Given the description of an element on the screen output the (x, y) to click on. 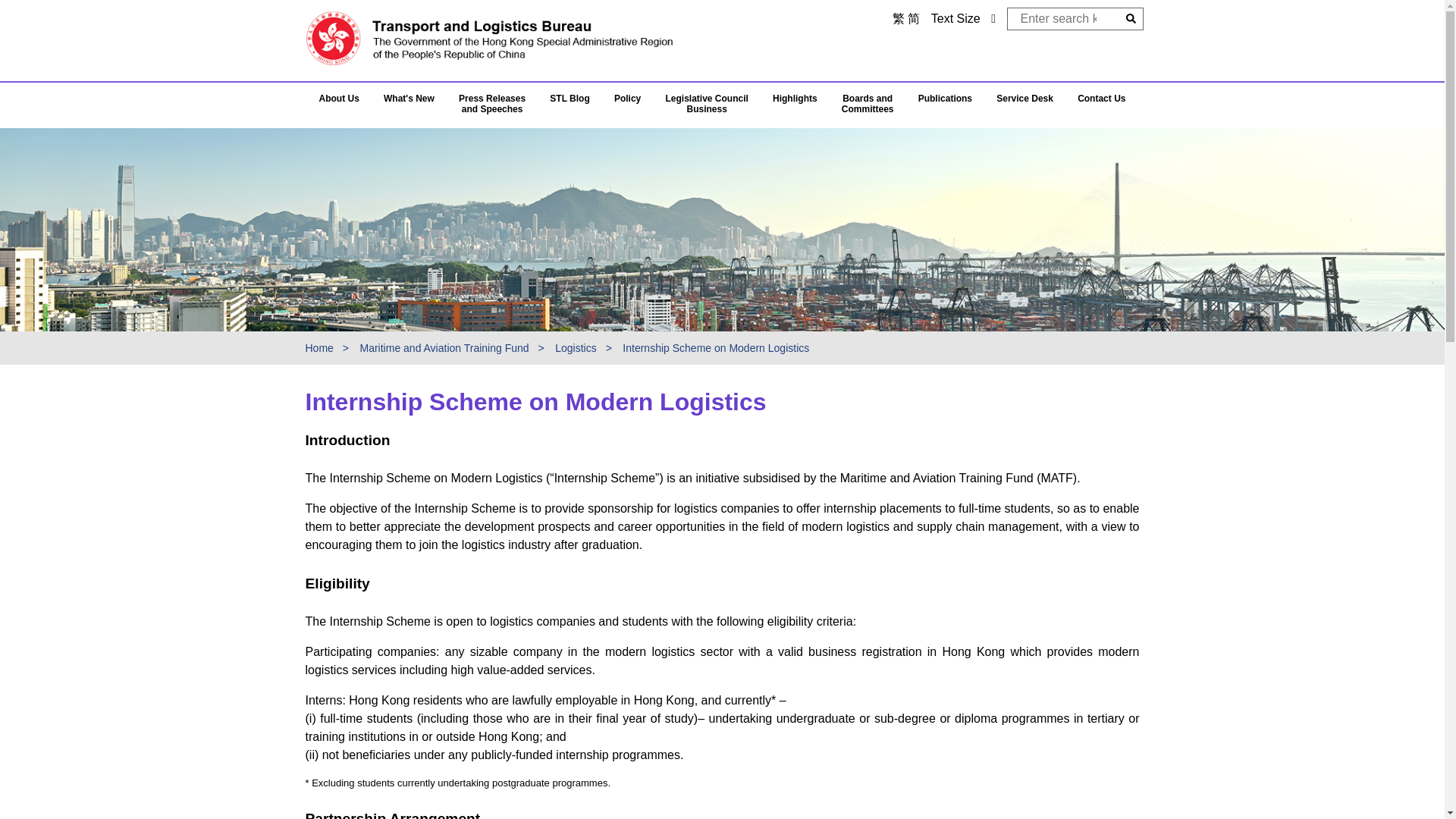
Submit (1131, 18)
Text Size (955, 18)
Submit (1131, 18)
Submit (1131, 18)
